Given the description of an element on the screen output the (x, y) to click on. 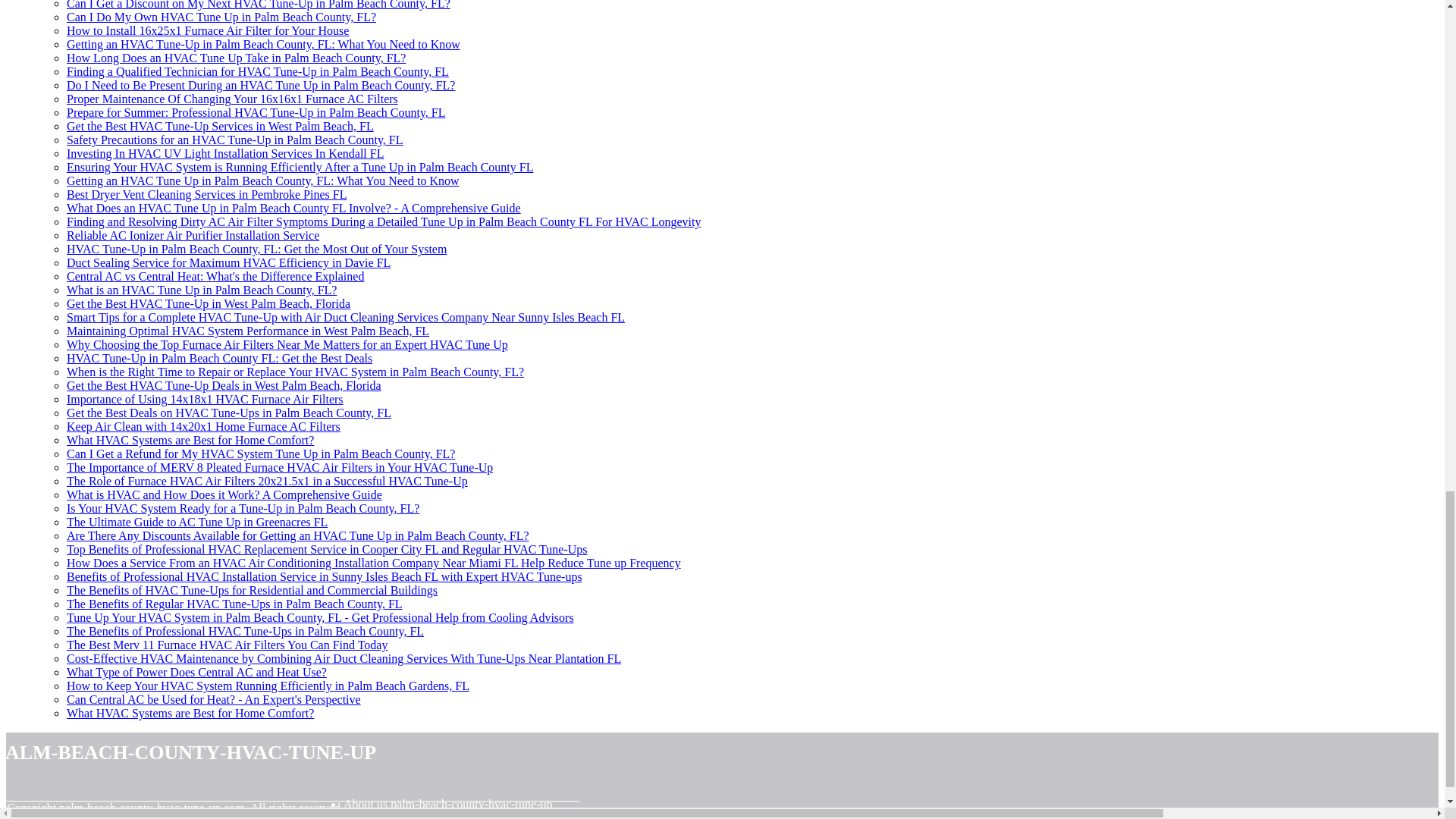
How Long Does an HVAC Tune Up Take in Palm Beach County, FL? (236, 57)
Can I Do My Own HVAC Tune Up in Palm Beach County, FL? (220, 16)
How to Install 16x25x1 Furnace Air Filter for Your House (207, 30)
